Given the description of an element on the screen output the (x, y) to click on. 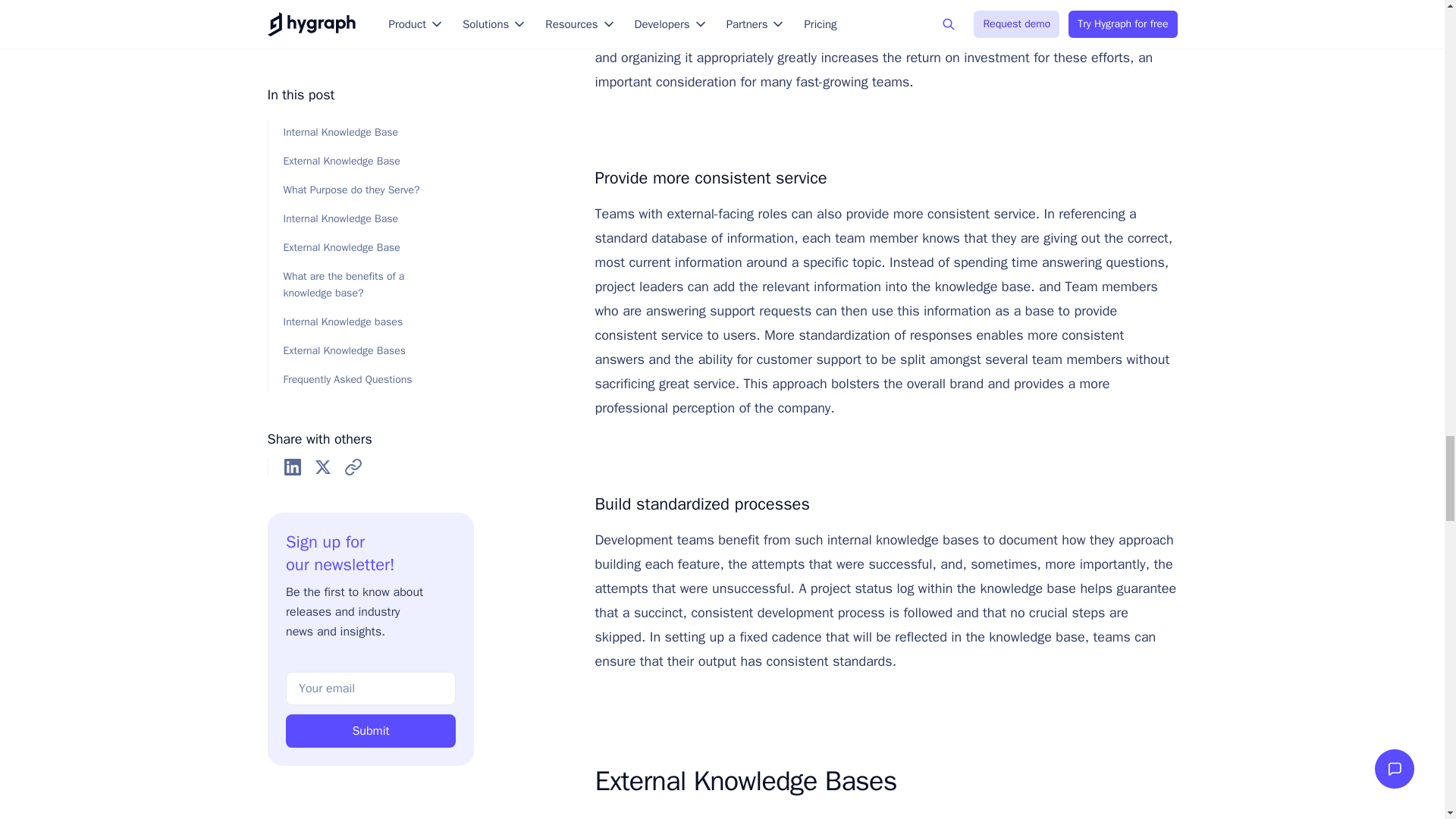
External Knowledge Bases (879, 780)
